Given the description of an element on the screen output the (x, y) to click on. 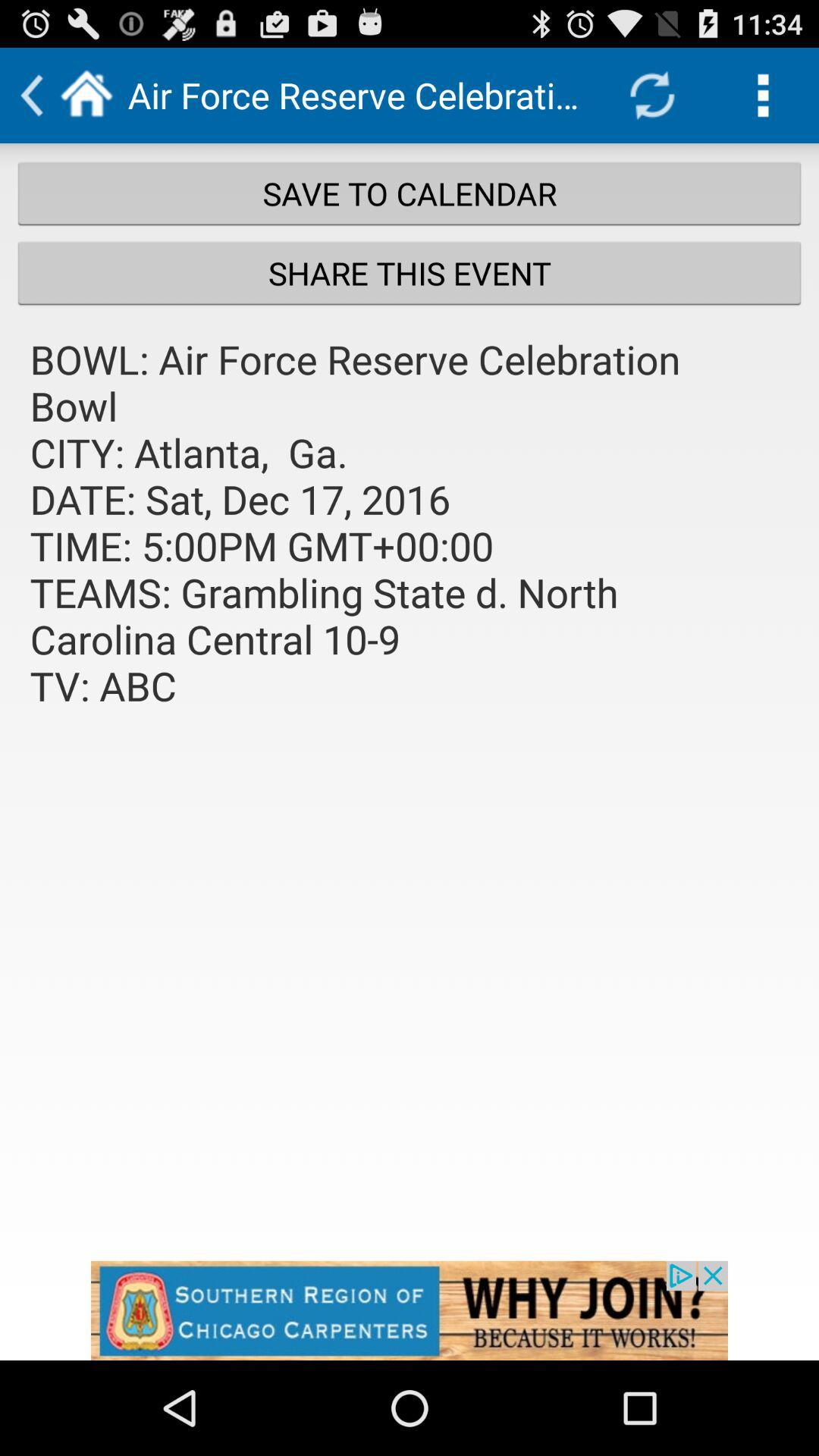
find out more (409, 1310)
